Given the description of an element on the screen output the (x, y) to click on. 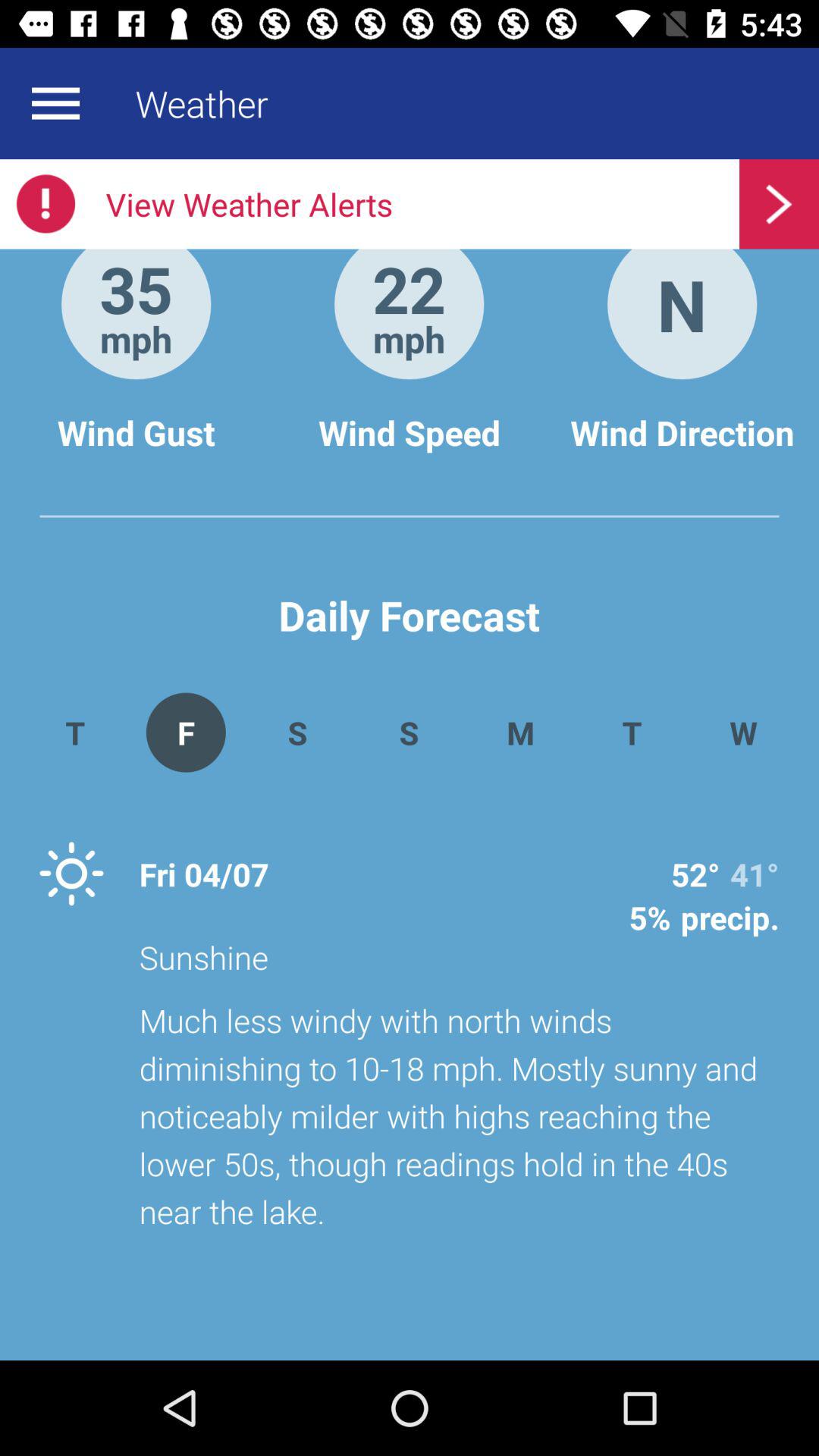
more option (55, 103)
